Given the description of an element on the screen output the (x, y) to click on. 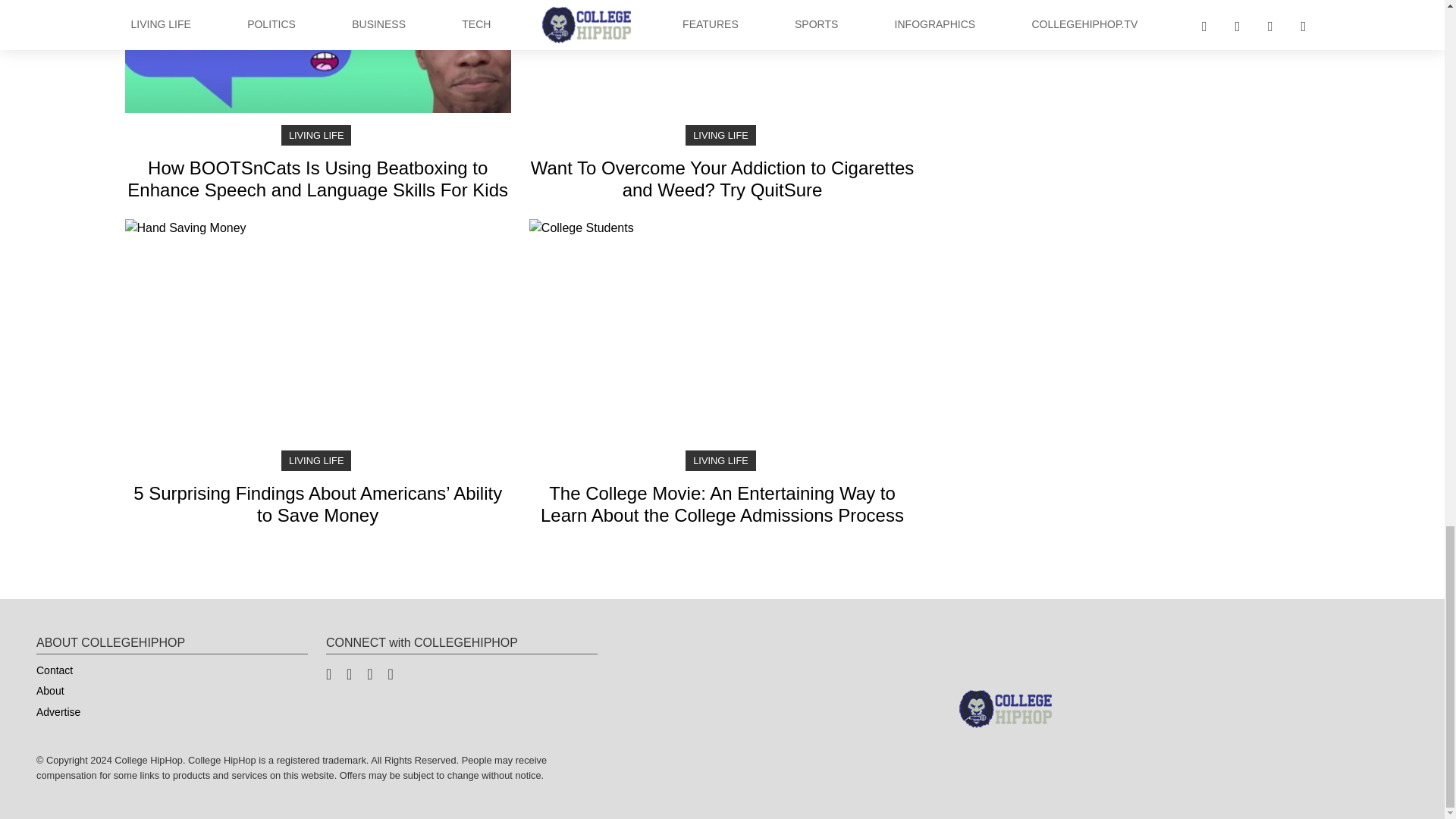
Advertise (58, 712)
About (50, 690)
Contact (54, 670)
